Given the description of an element on the screen output the (x, y) to click on. 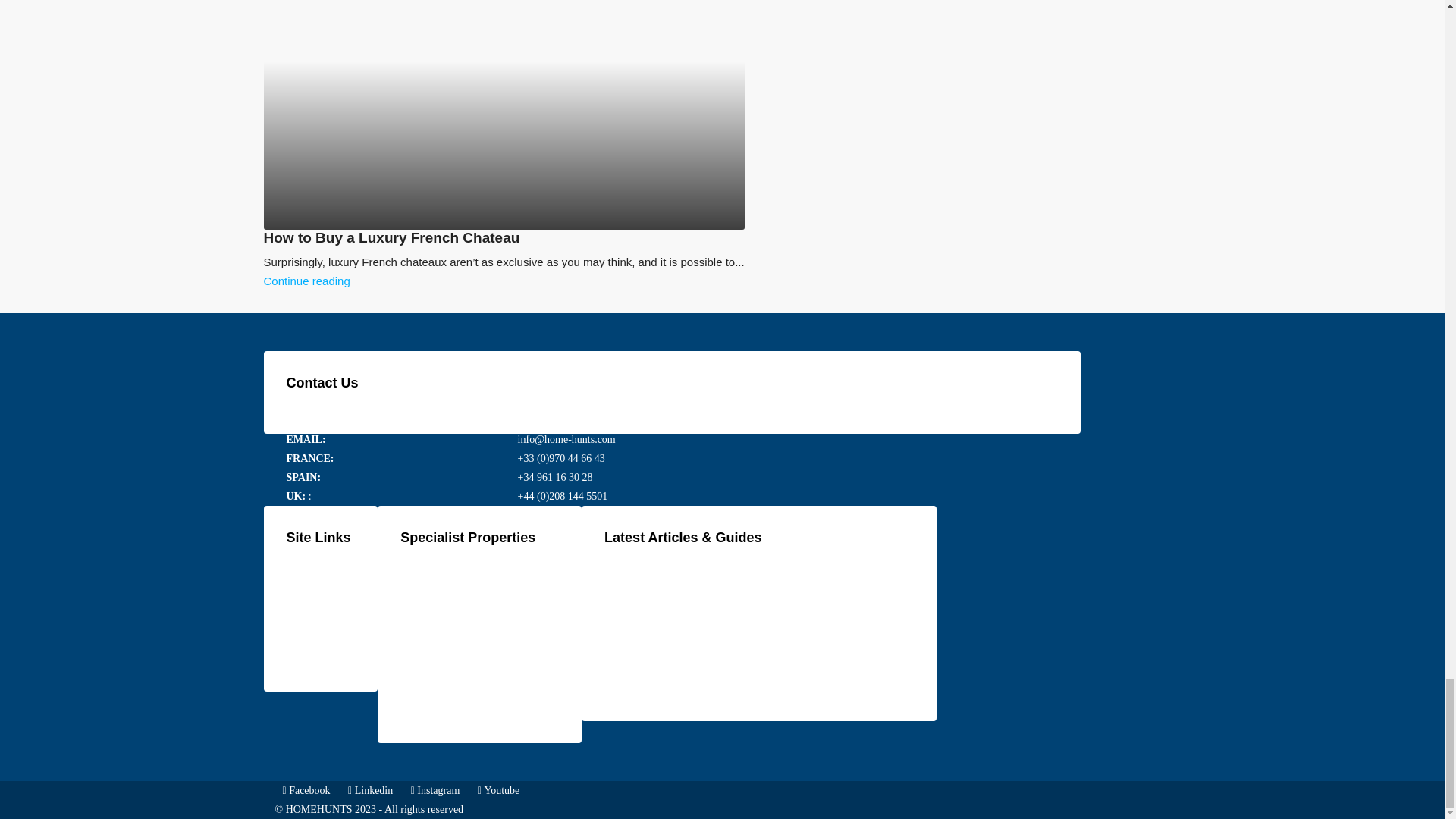
How to Buy a Luxury French Chateau 14 (488, 115)
